Given the description of an element on the screen output the (x, y) to click on. 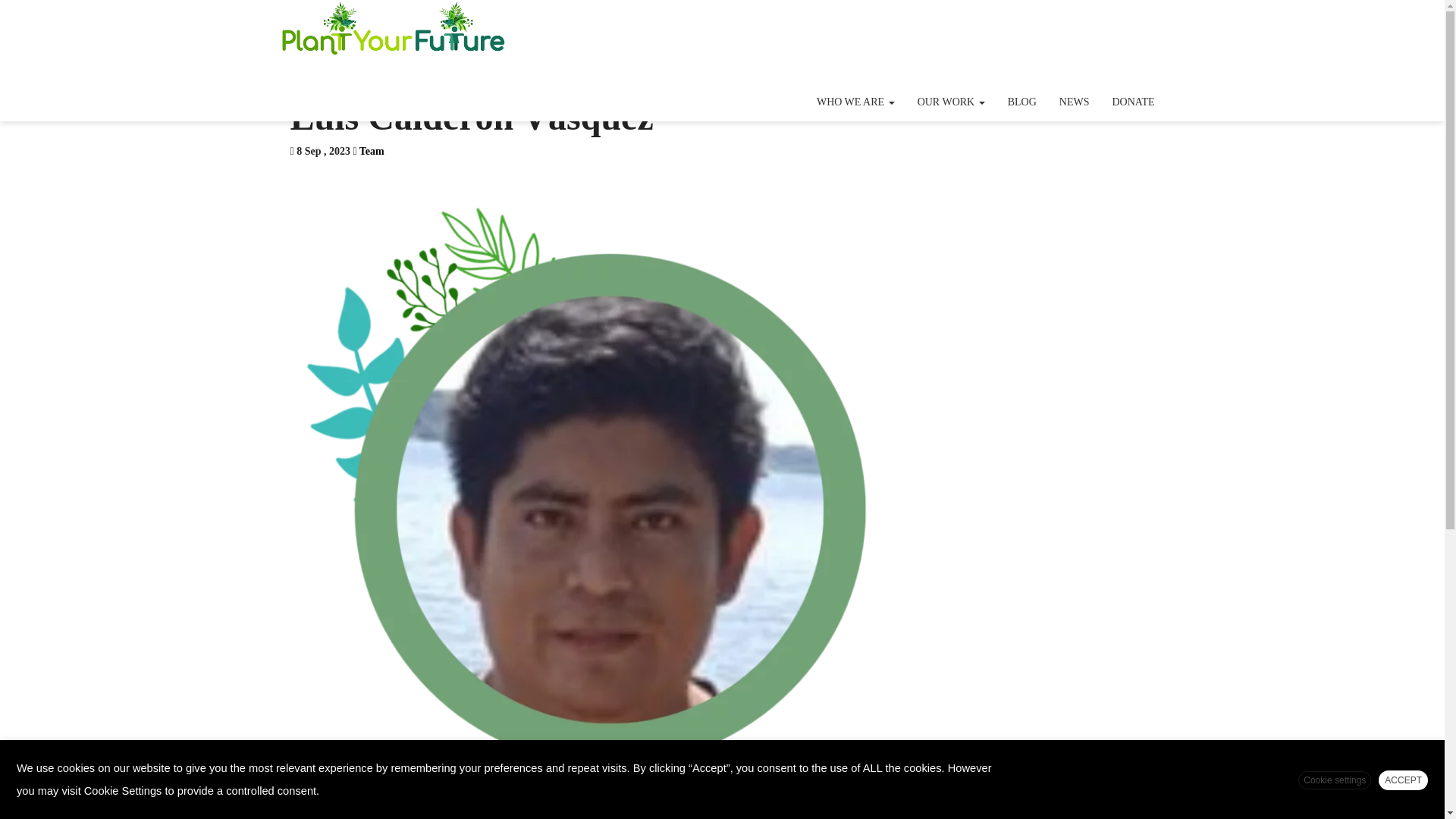
Donate (1133, 102)
Blog (1021, 102)
Team (371, 151)
PLANT YOUR FUTURE (392, 30)
WHO WE ARE (855, 102)
Cookie settings (1334, 780)
BLOG (1021, 102)
Who We Are (855, 102)
DONATE (1133, 102)
OUR WORK (950, 102)
Our Work (950, 102)
News (1074, 102)
ACCEPT (1403, 780)
NEWS (1074, 102)
